Given the description of an element on the screen output the (x, y) to click on. 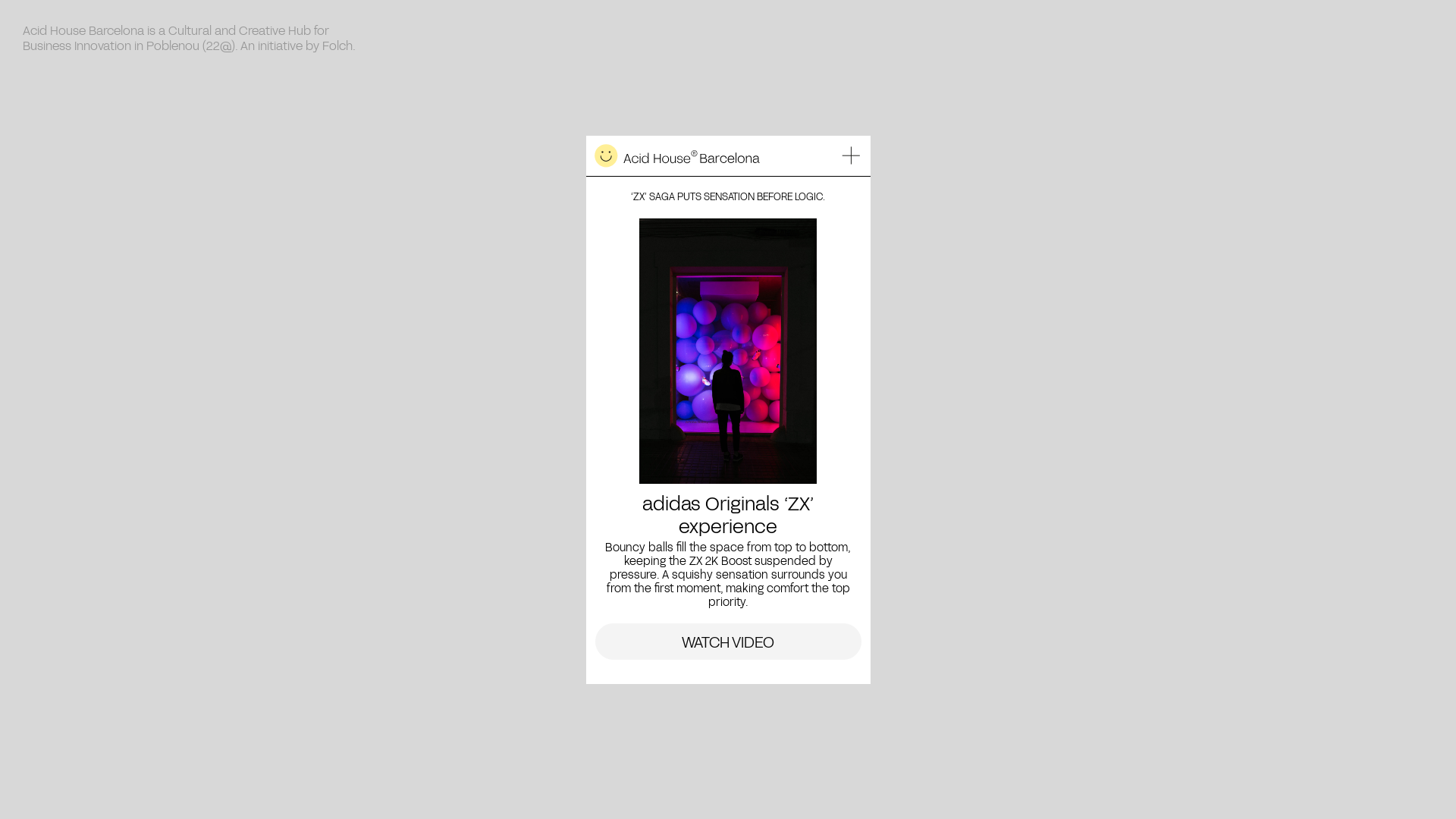
WATCH VIDEO Element type: text (727, 641)
